Given the description of an element on the screen output the (x, y) to click on. 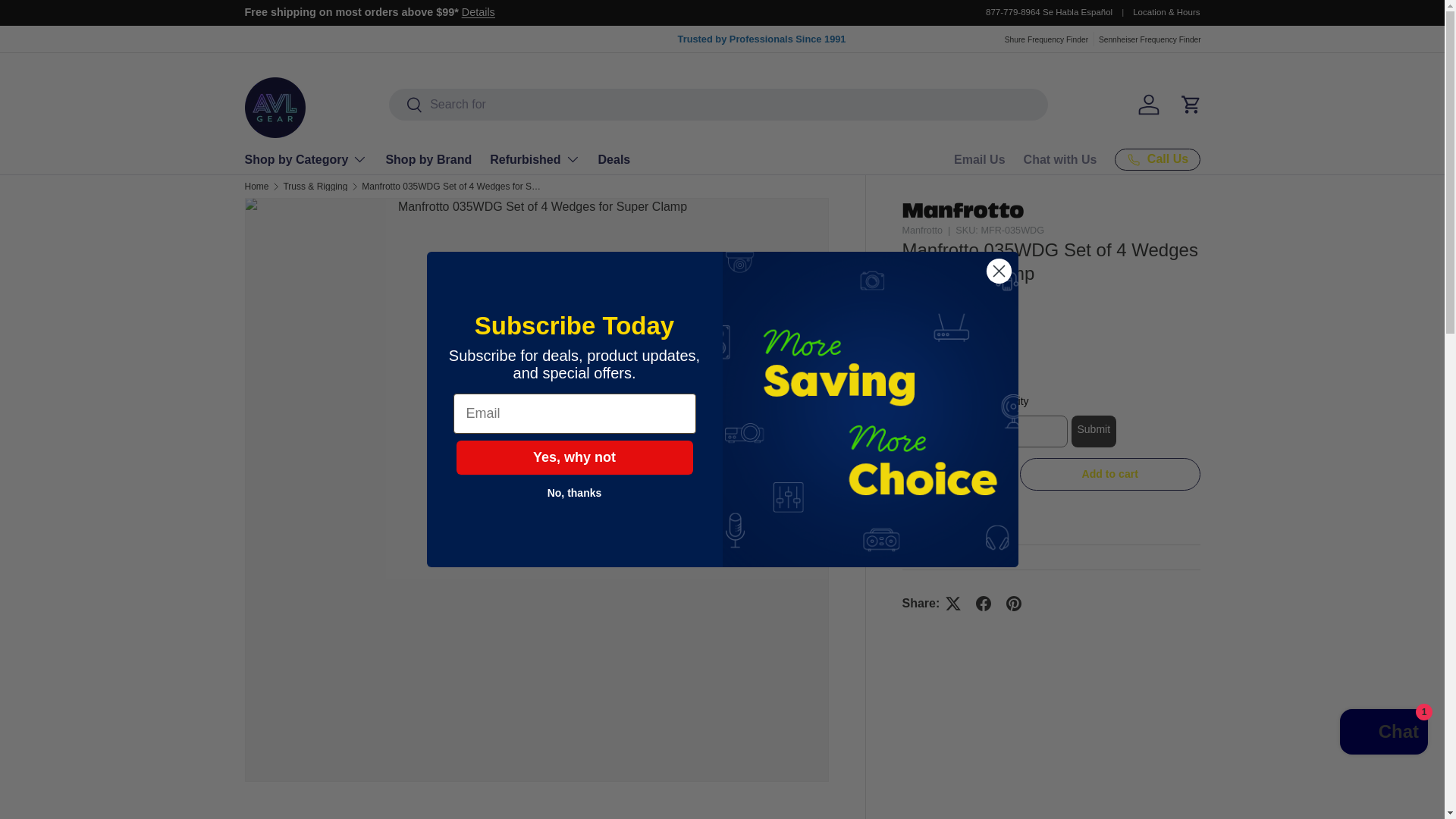
Log in (1147, 104)
Skip to content (68, 21)
Details (478, 11)
Pin on Pinterest (1013, 603)
Share on Facebook (983, 603)
Shure Frequency Finder (1045, 40)
Sennheiser Frequency Finder (1150, 40)
Shure Frequency Finder (1045, 40)
1 (953, 476)
PayPal Message 1 (1050, 368)
Tweet on X (952, 603)
Sennheiser Frequency Finder (1150, 40)
Shop by Category (305, 159)
Shopify online store chat (1383, 733)
